Given the description of an element on the screen output the (x, y) to click on. 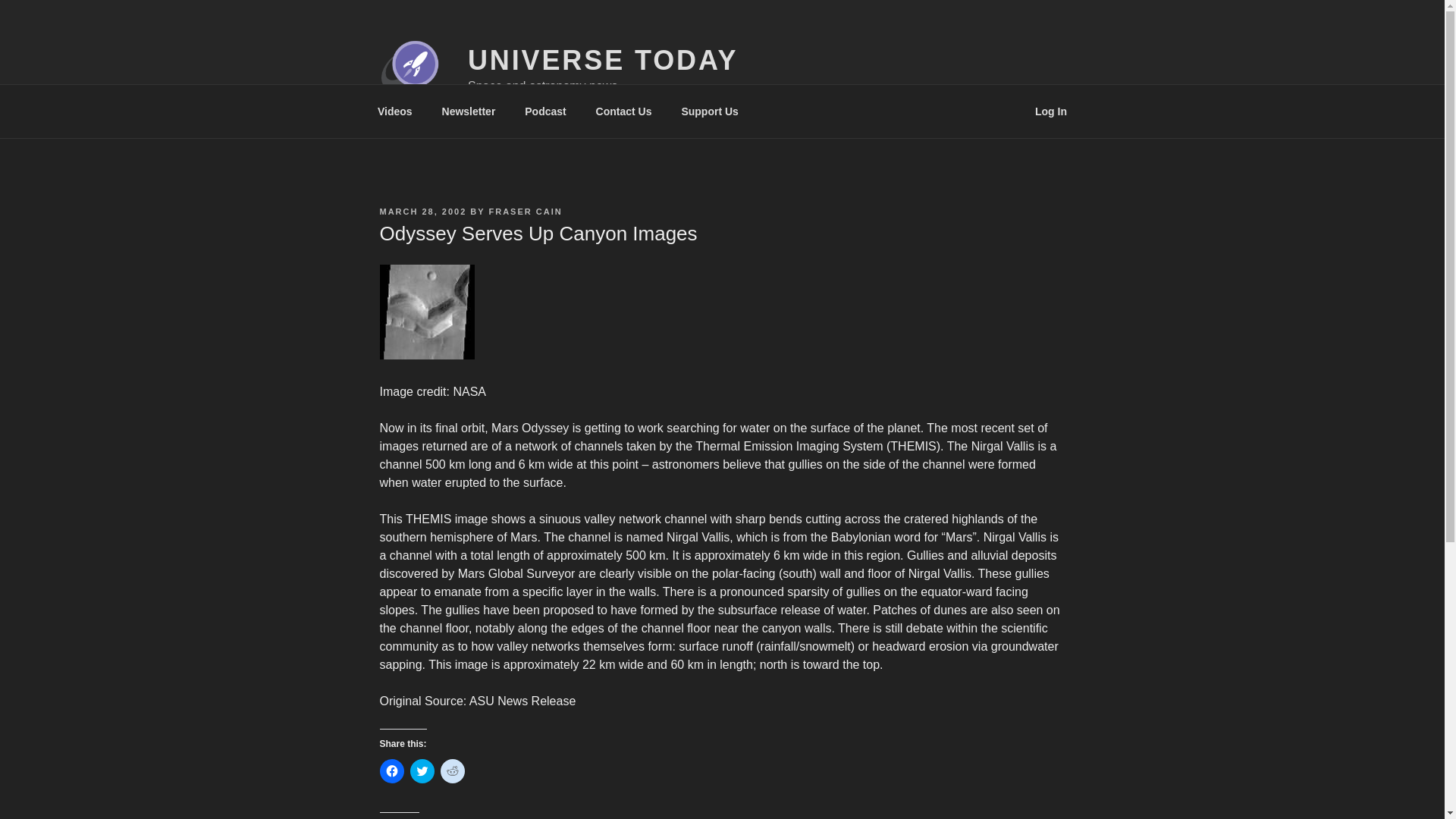
FRASER CAIN (525, 211)
Podcast (545, 110)
Click to share on Twitter (421, 770)
Click to share on Reddit (451, 770)
Contact Us (623, 110)
Videos (394, 110)
Click to share on Facebook (390, 770)
Support Us (709, 110)
MARCH 28, 2002 (421, 211)
UNIVERSE TODAY (602, 60)
Newsletter (468, 110)
Log In (1051, 110)
